Given the description of an element on the screen output the (x, y) to click on. 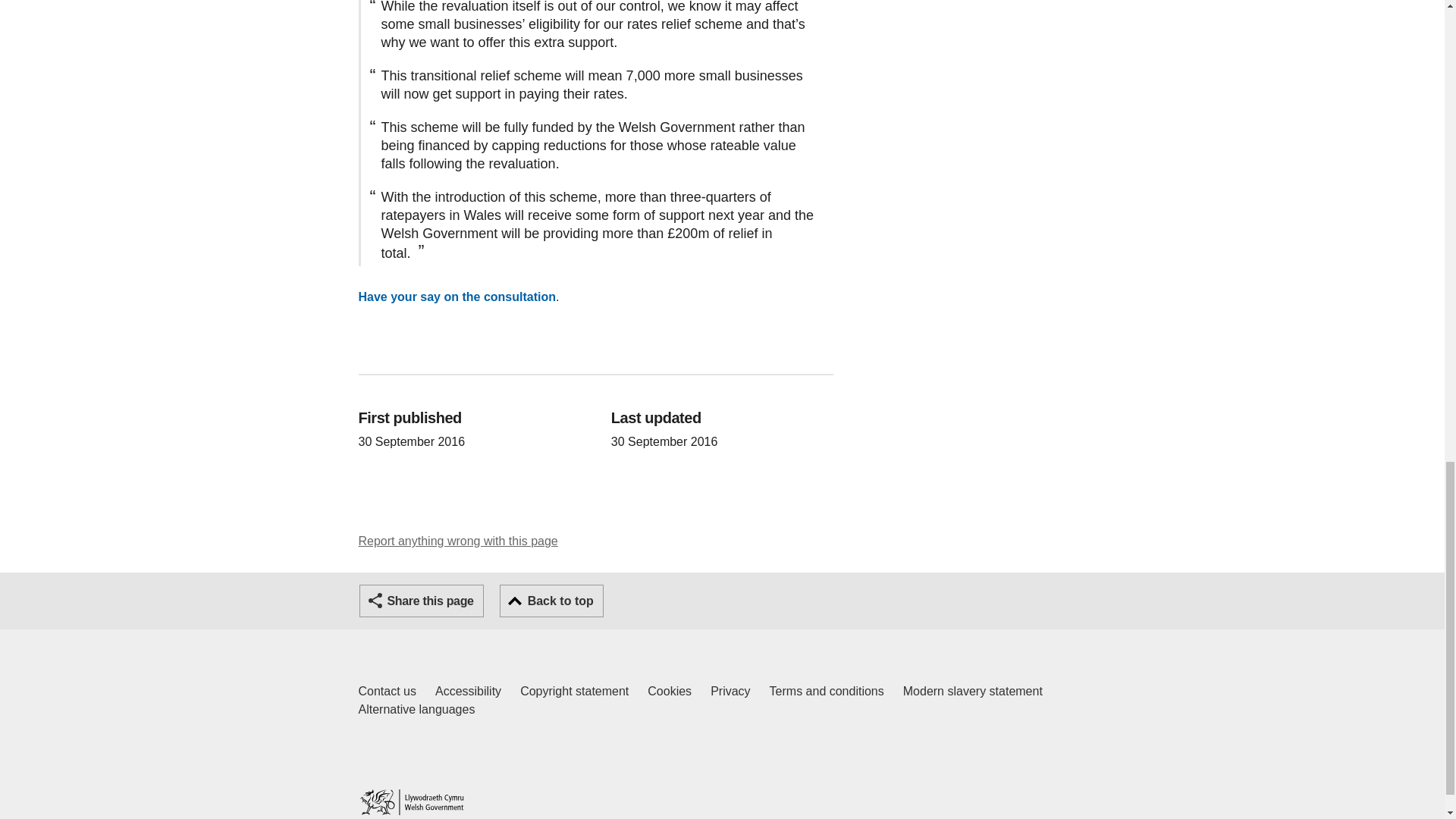
Back to top (551, 600)
Terms and conditions (826, 691)
Cookies (669, 691)
Copyright statement (573, 691)
Modern slavery statement (972, 691)
Home (386, 691)
Accessibility (411, 801)
Share this page (467, 691)
Privacy (421, 600)
Report anything wrong with this page (729, 691)
Have your say on the consultation (457, 540)
Alternative languages (457, 296)
